Given the description of an element on the screen output the (x, y) to click on. 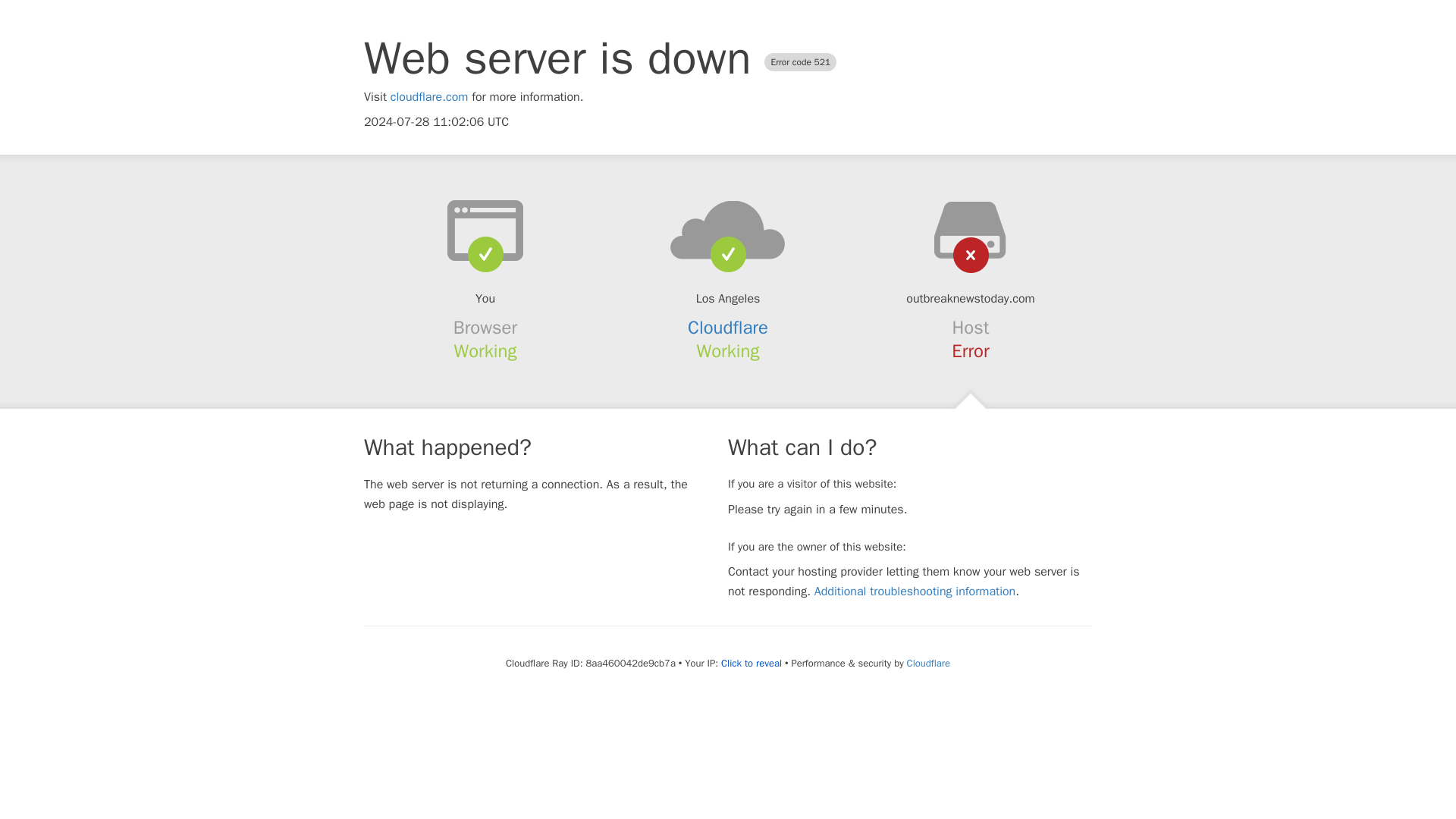
cloudflare.com (429, 96)
Click to reveal (750, 663)
Additional troubleshooting information (913, 590)
Cloudflare (928, 662)
Cloudflare (727, 327)
